Given the description of an element on the screen output the (x, y) to click on. 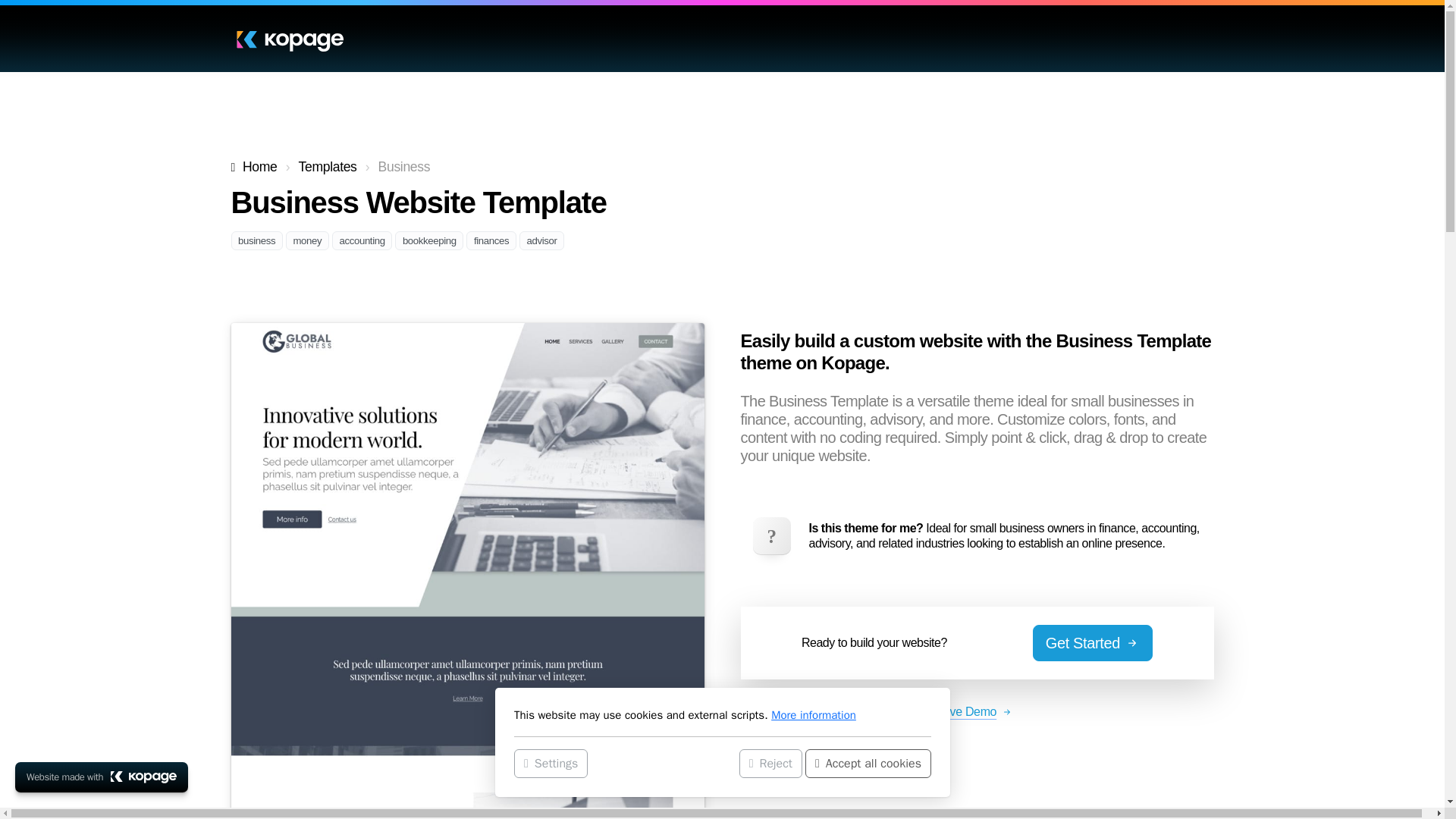
advisor (541, 239)
money (307, 239)
finances (490, 239)
Templates (327, 166)
Settings (550, 762)
bookkeeping (428, 239)
Reject (770, 762)
business (256, 239)
Home (253, 166)
Accept all cookies (867, 762)
